Given the description of an element on the screen output the (x, y) to click on. 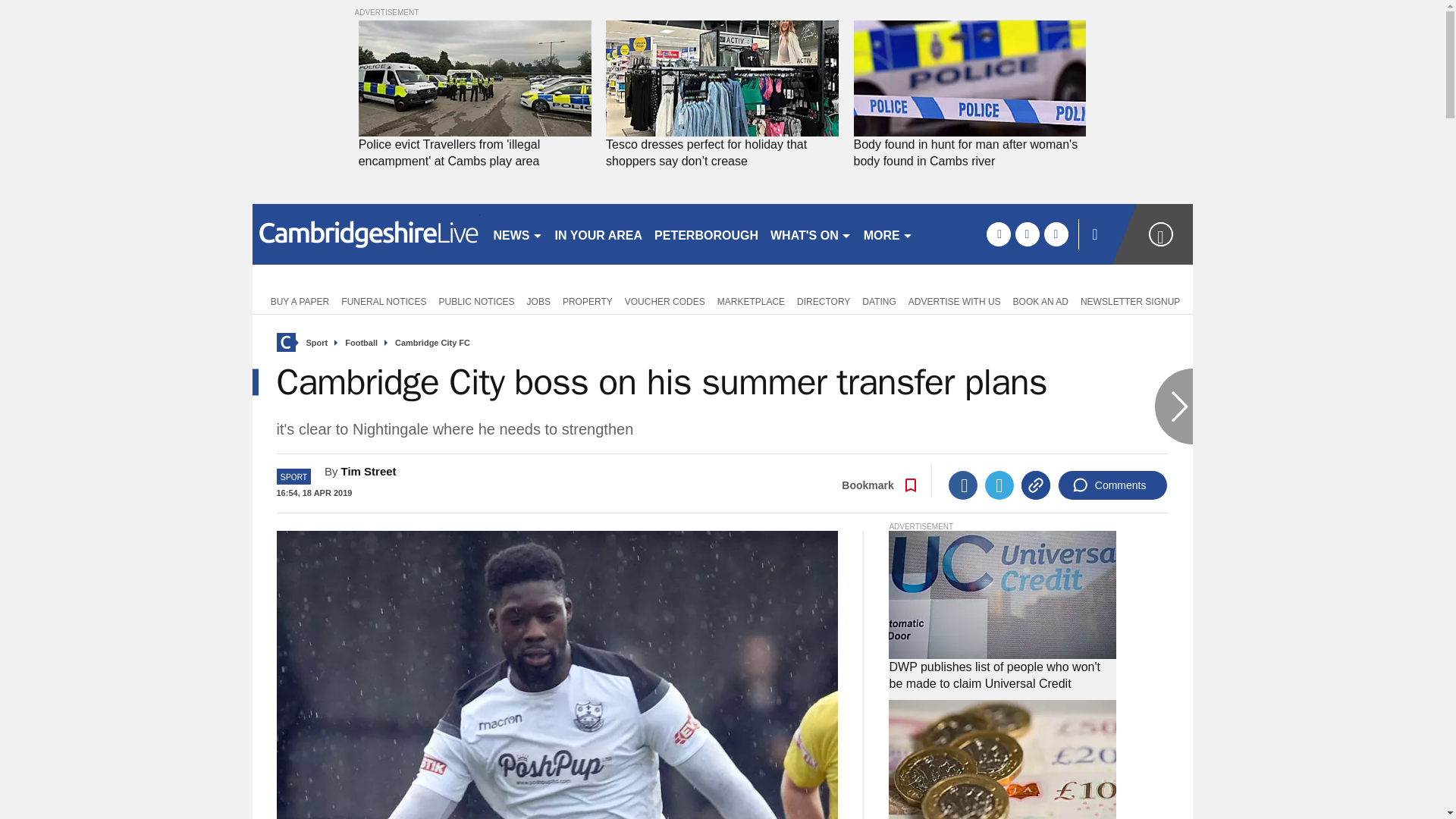
Facebook (962, 484)
IN YOUR AREA (598, 233)
WHAT'S ON (810, 233)
MORE (887, 233)
facebook (997, 233)
cambridgenews (365, 233)
Twitter (999, 484)
instagram (1055, 233)
NEWS (517, 233)
twitter (1026, 233)
PETERBOROUGH (705, 233)
Comments (1112, 484)
